Given the description of an element on the screen output the (x, y) to click on. 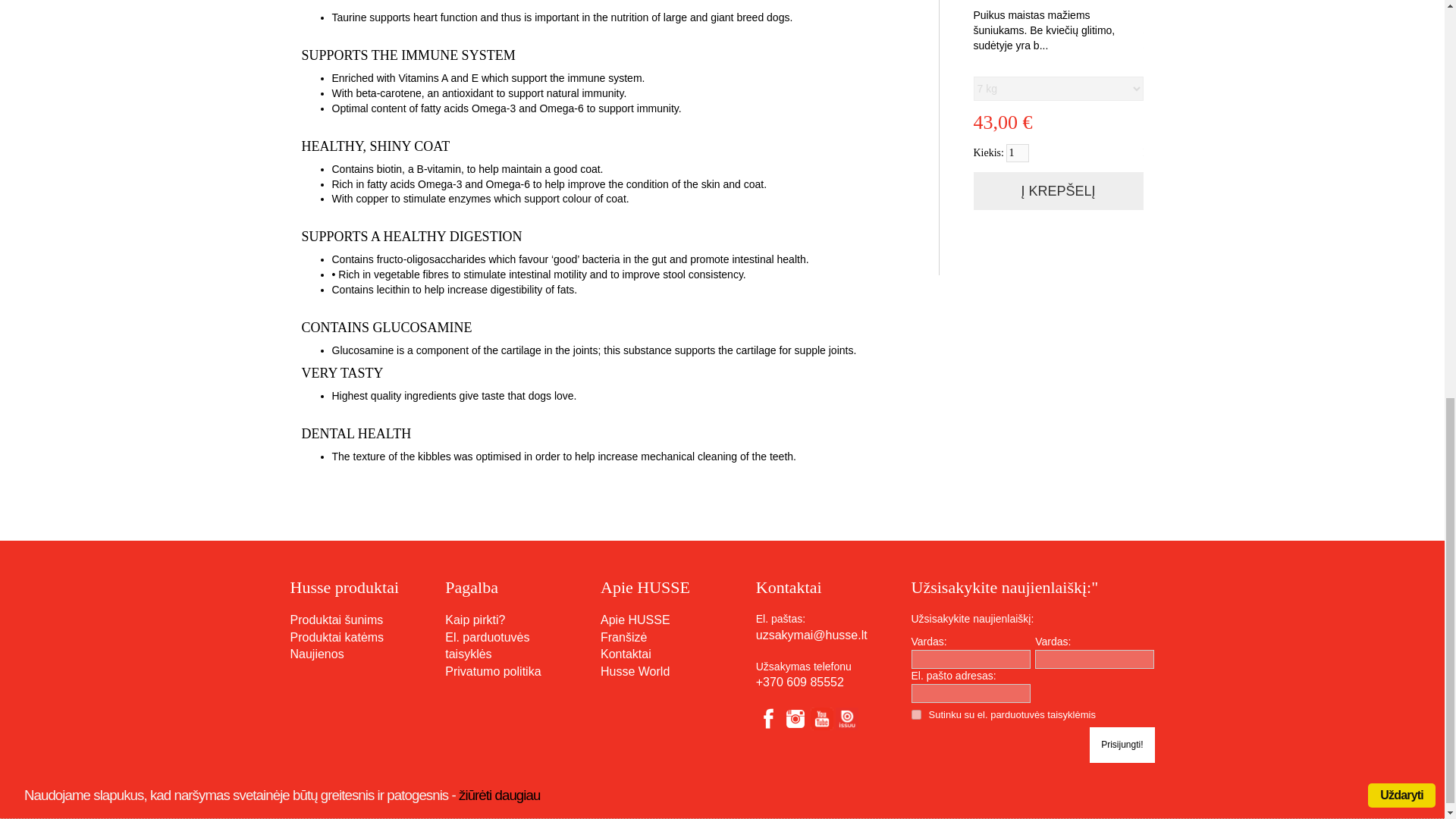
1 (1017, 153)
on (916, 714)
